Given the description of an element on the screen output the (x, y) to click on. 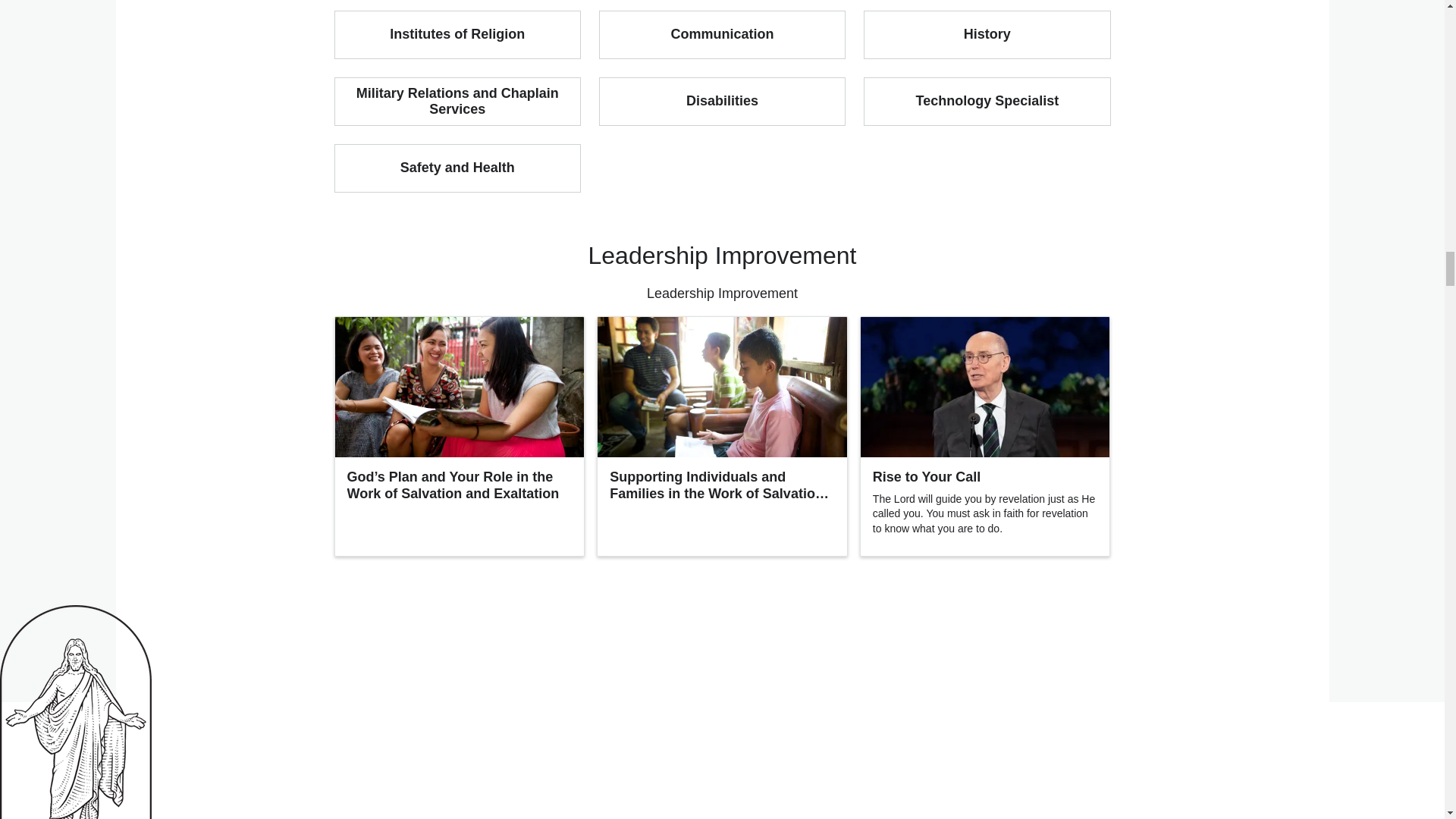
Institutes of Religion (456, 34)
Safety and Health (456, 168)
History (986, 34)
Technology Specialist (986, 101)
Communication (721, 34)
Military Relations and Chaplain Services (456, 101)
Disabilities (721, 101)
